Given the description of an element on the screen output the (x, y) to click on. 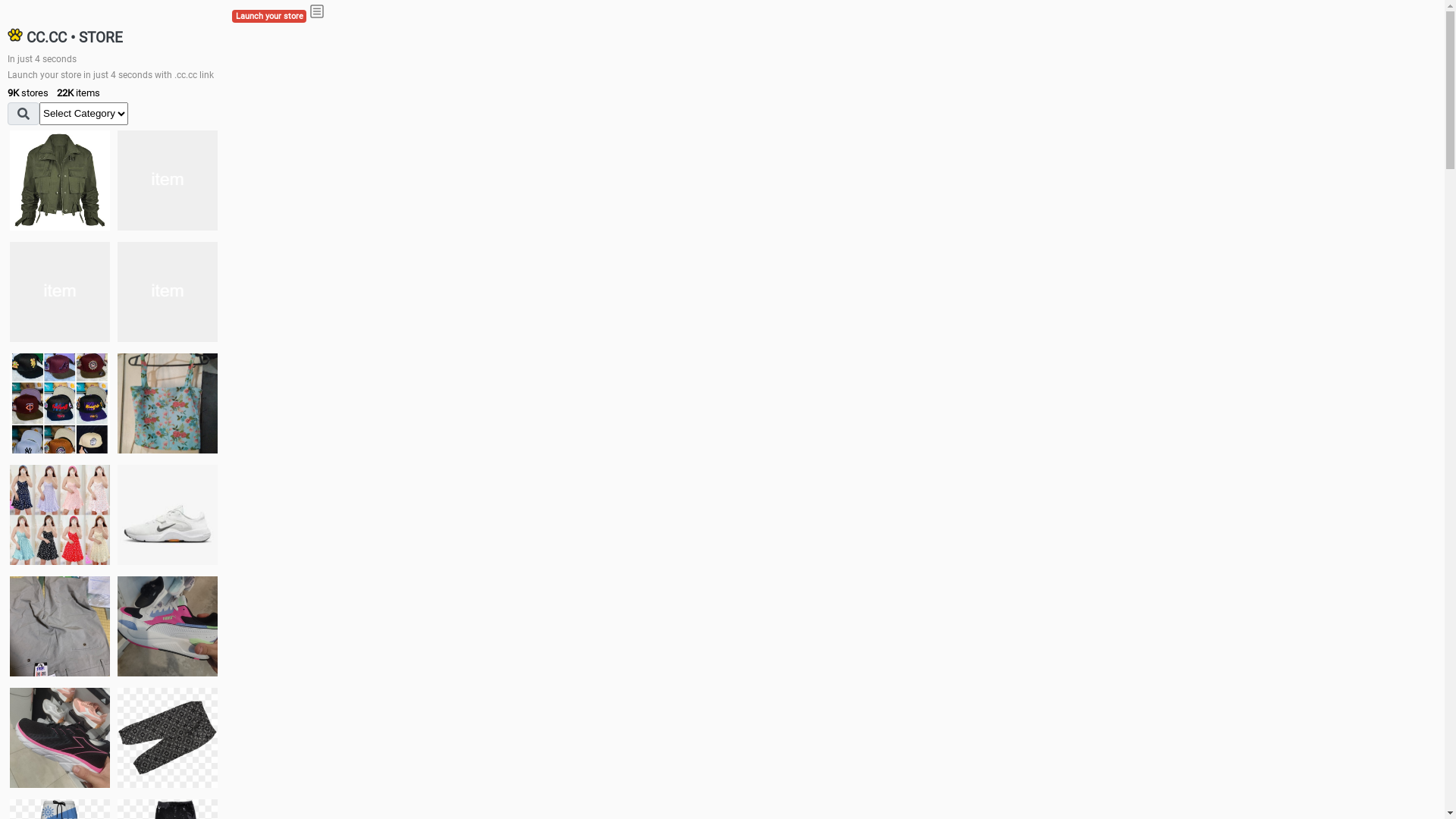
Dress/square nect top Element type: hover (59, 514)
Things we need Element type: hover (59, 403)
Zapatillas pumas Element type: hover (167, 626)
Shoes Element type: hover (167, 514)
white shoes Element type: hover (167, 180)
Launch your store Element type: text (269, 15)
Zapatillas Element type: hover (59, 737)
Ukay cloth Element type: hover (167, 403)
jacket Element type: hover (59, 180)
shoes for boys Element type: hover (59, 291)
Shoes for boys Element type: hover (167, 291)
Short pant Element type: hover (167, 737)
